Given the description of an element on the screen output the (x, y) to click on. 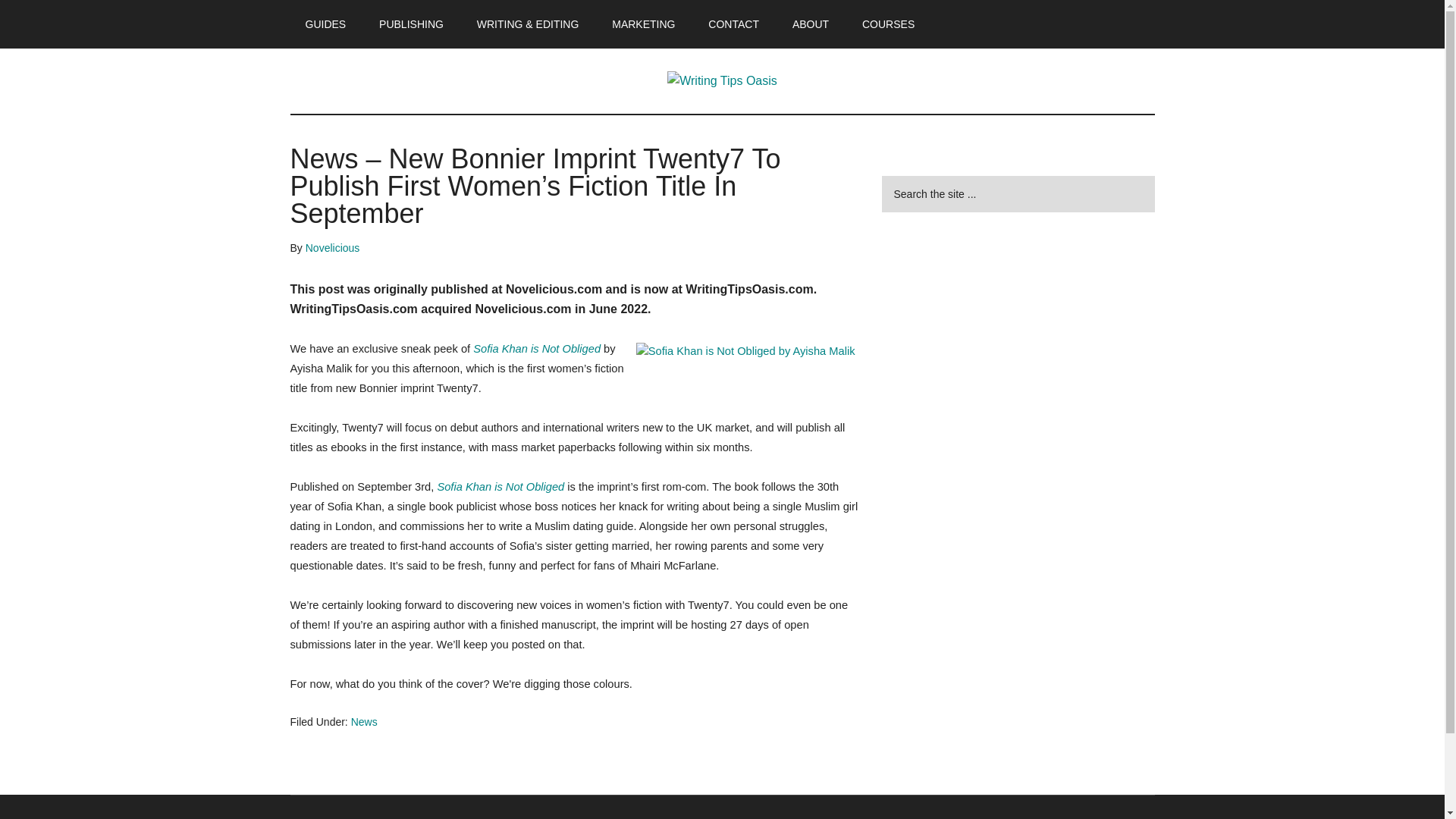
ABOUT (810, 24)
Sofia Khan is Not Obliged by Ayisha Malik (745, 351)
Novelicious (332, 247)
GUIDES (325, 24)
Sofia Khan is Not Obliged (536, 348)
PUBLISHING (411, 24)
Sofia Khan is Not Obliged by Ayisha Malik (536, 348)
News (363, 721)
